Given the description of an element on the screen output the (x, y) to click on. 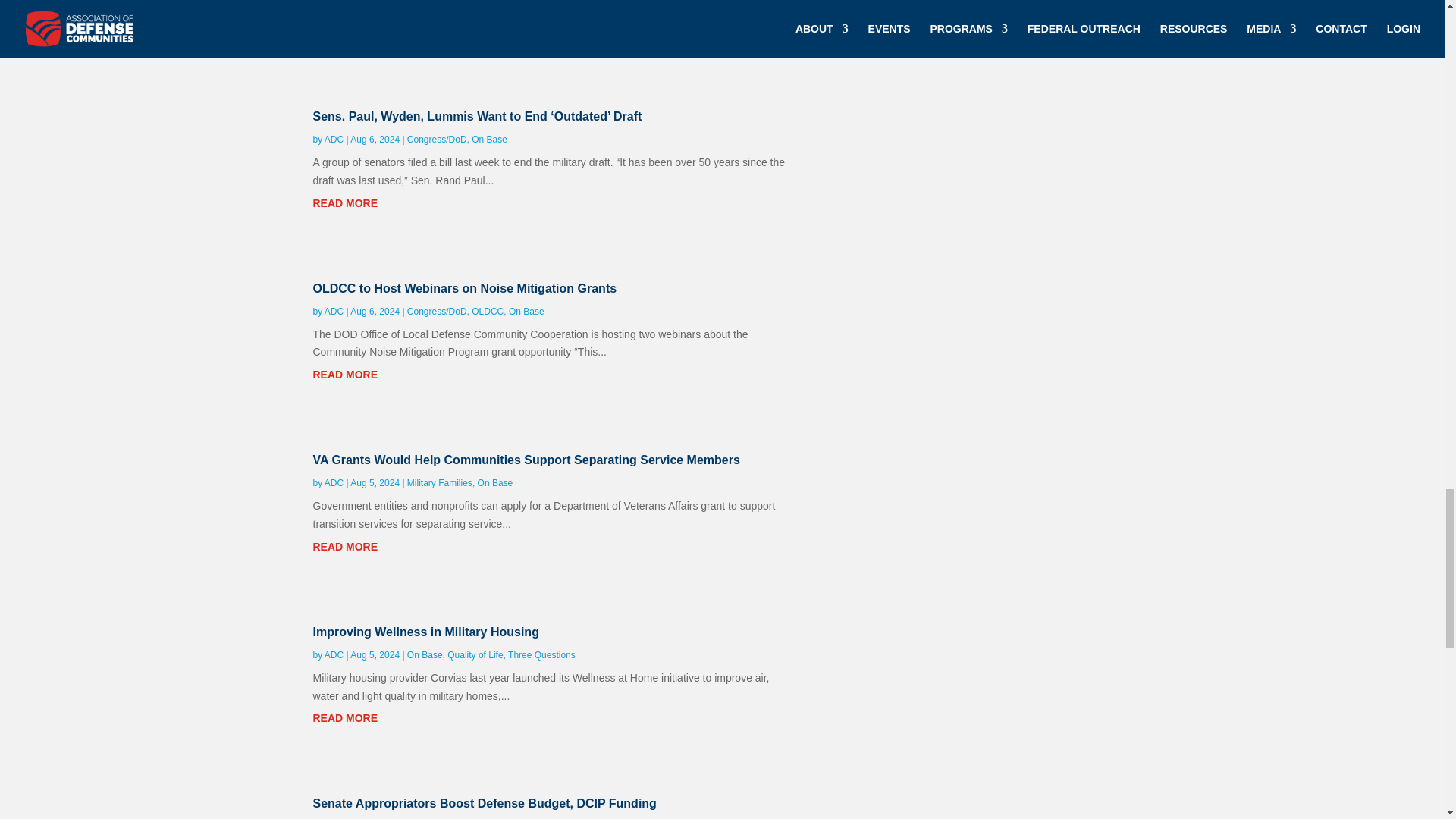
Posts by ADC (333, 311)
Posts by ADC (333, 139)
Posts by ADC (333, 482)
Posts by ADC (333, 655)
